Given the description of an element on the screen output the (x, y) to click on. 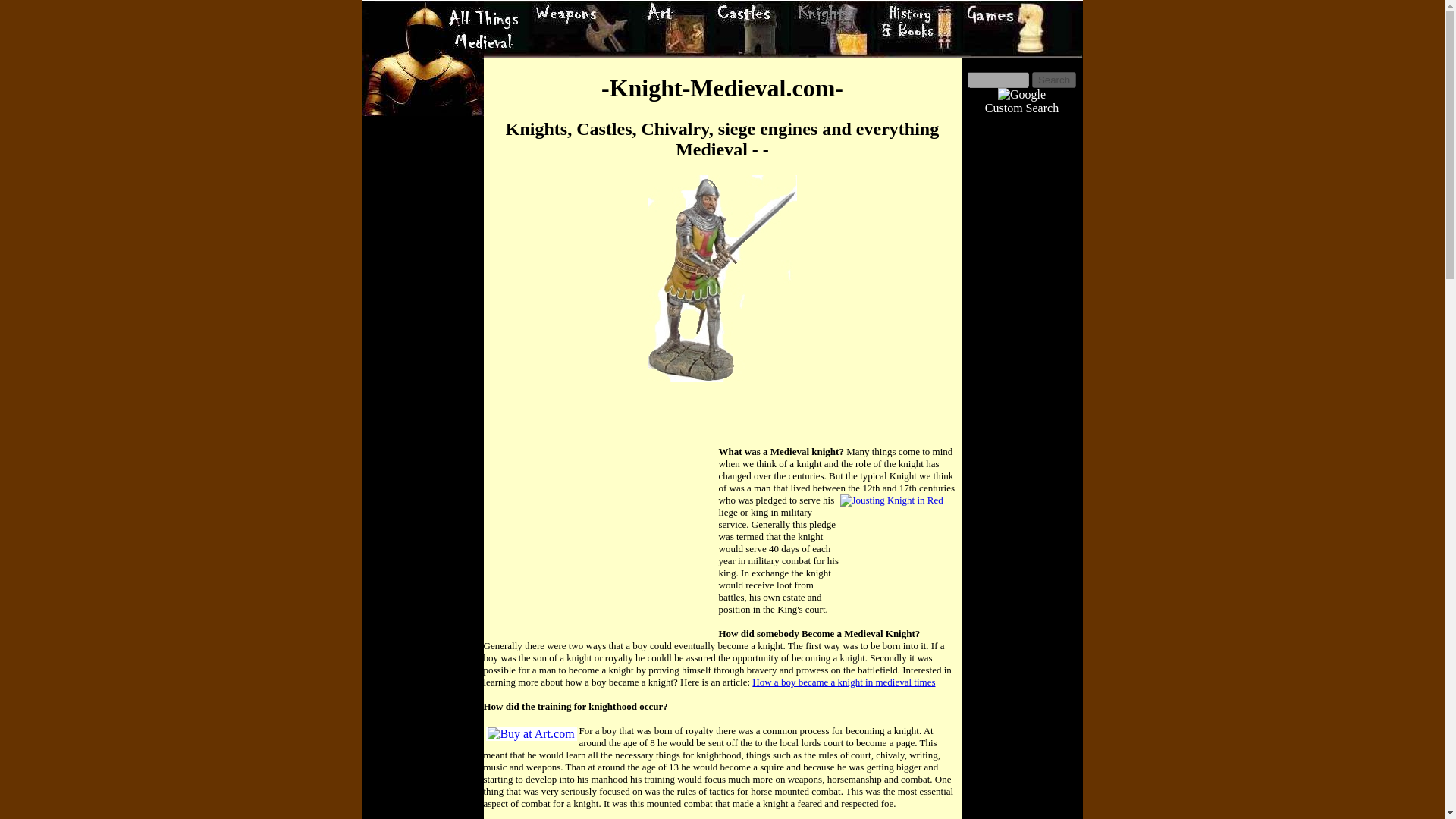
Search (1053, 79)
How a boy became a knight in medieval times (843, 681)
Search (1053, 79)
